Given the description of an element on the screen output the (x, y) to click on. 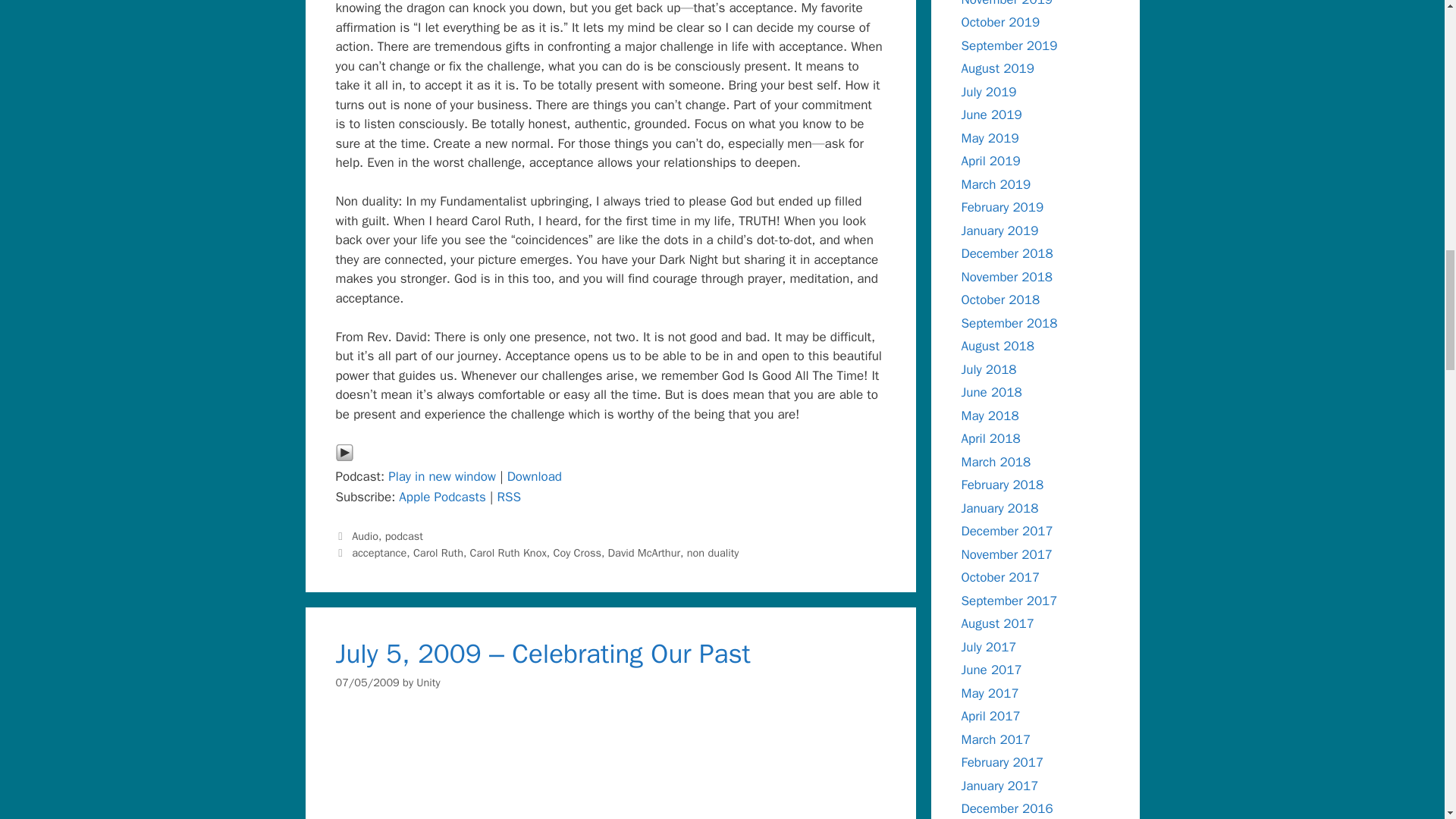
Carol Ruth Knox (508, 552)
Download (534, 476)
RSS (508, 496)
Play (343, 457)
Apple Podcasts (441, 496)
Unity (427, 682)
Play in new window (442, 476)
Coy Cross (576, 552)
podcast (404, 535)
David McArthur (643, 552)
Audio (365, 535)
Carol Ruth (438, 552)
non duality (713, 552)
Download (534, 476)
Play in new window (442, 476)
